Given the description of an element on the screen output the (x, y) to click on. 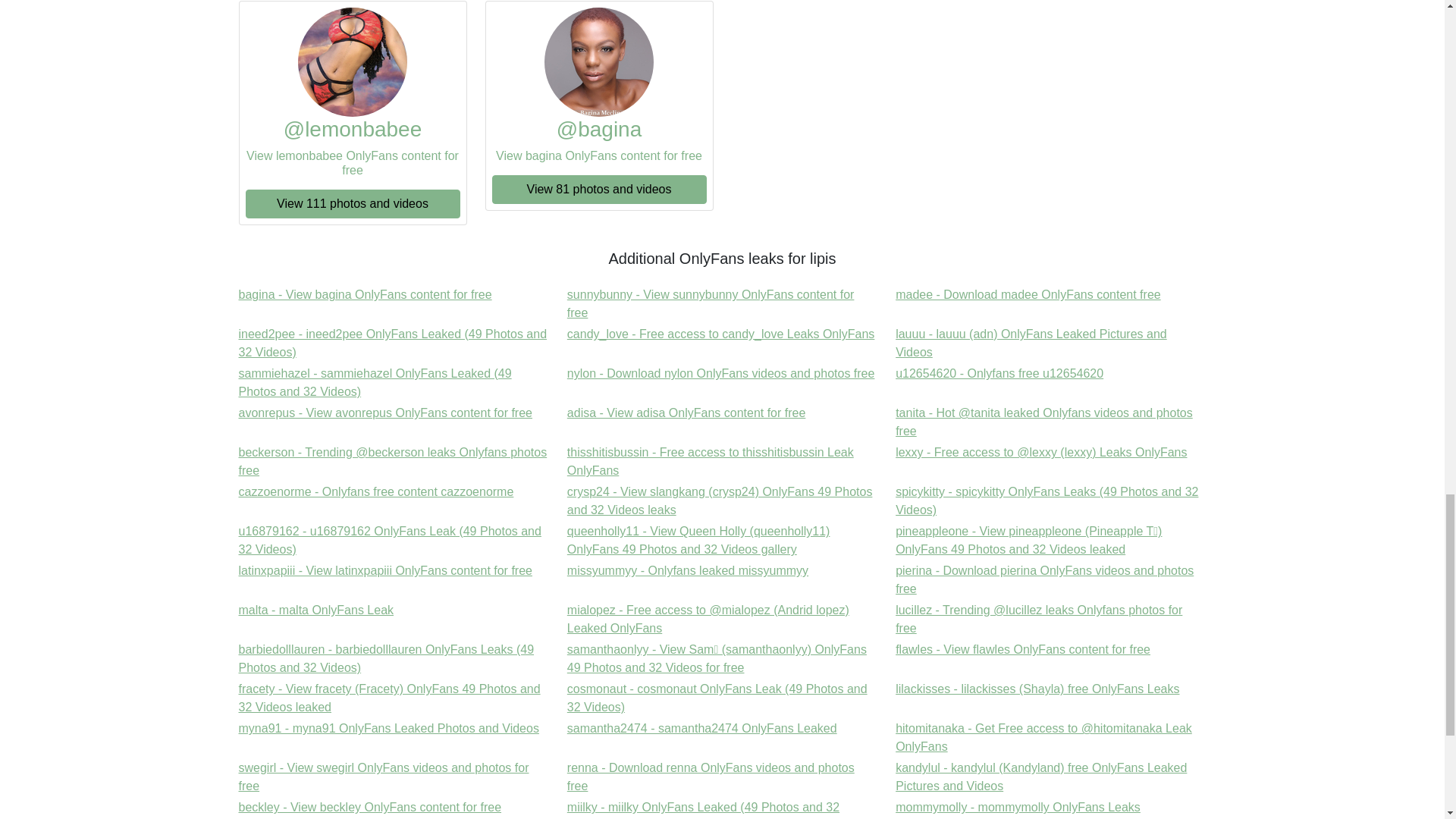
bagina - View bagina OnlyFans content for free (375, 491)
sunnybunny - View sunnybunny OnlyFans content for free (365, 294)
madee - Download madee OnlyFans content free (365, 294)
adisa - View adisa OnlyFans content for free (1027, 294)
